Given the description of an element on the screen output the (x, y) to click on. 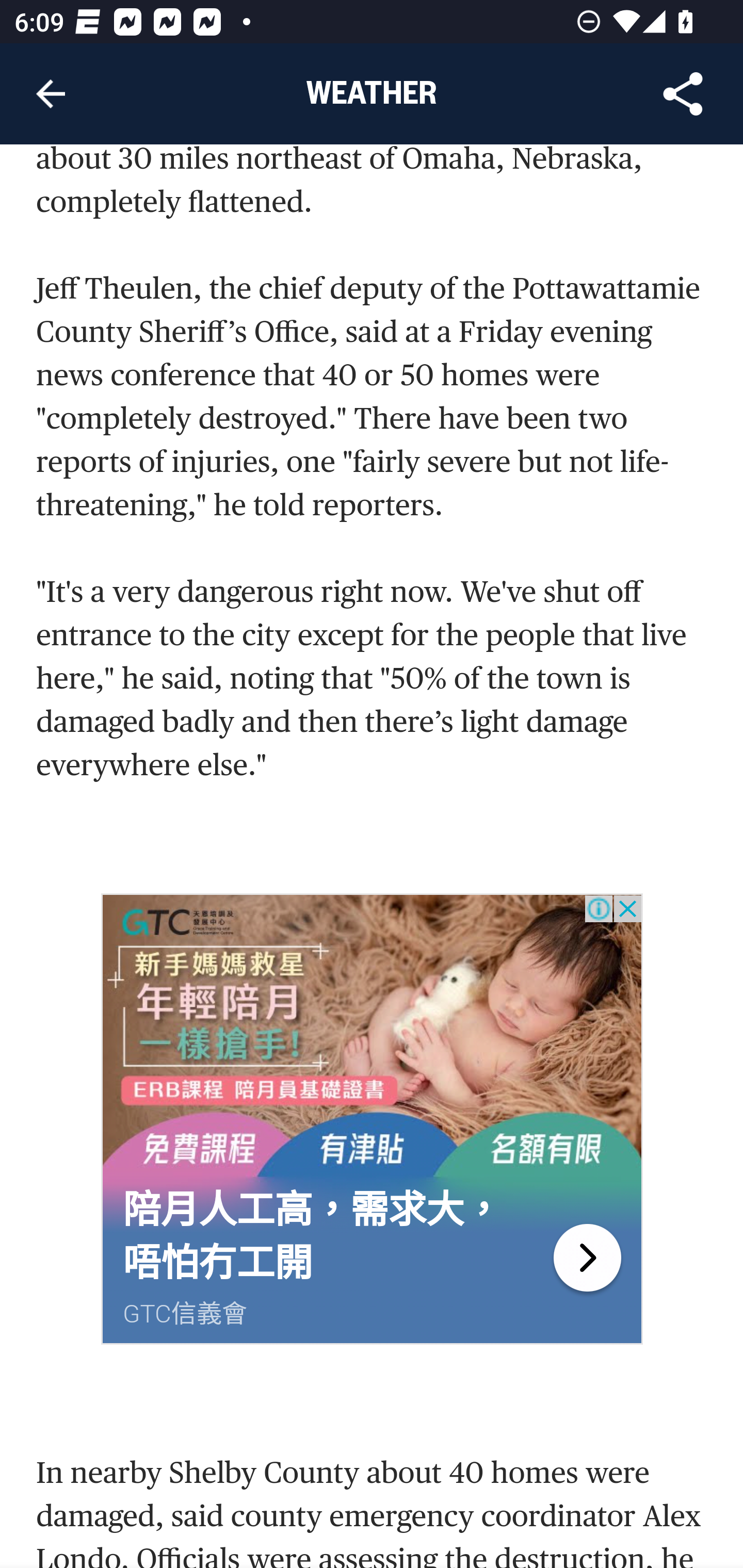
Navigate up (50, 93)
Share Article, button (683, 94)
course_content_ERB (372, 1037)
陪月人工高，需求大， 唔怕冇工開 陪月人工高，需求大， 唔怕冇工開 (312, 1236)
course_content_ERB (587, 1256)
GTC信義會 (184, 1313)
